Given the description of an element on the screen output the (x, y) to click on. 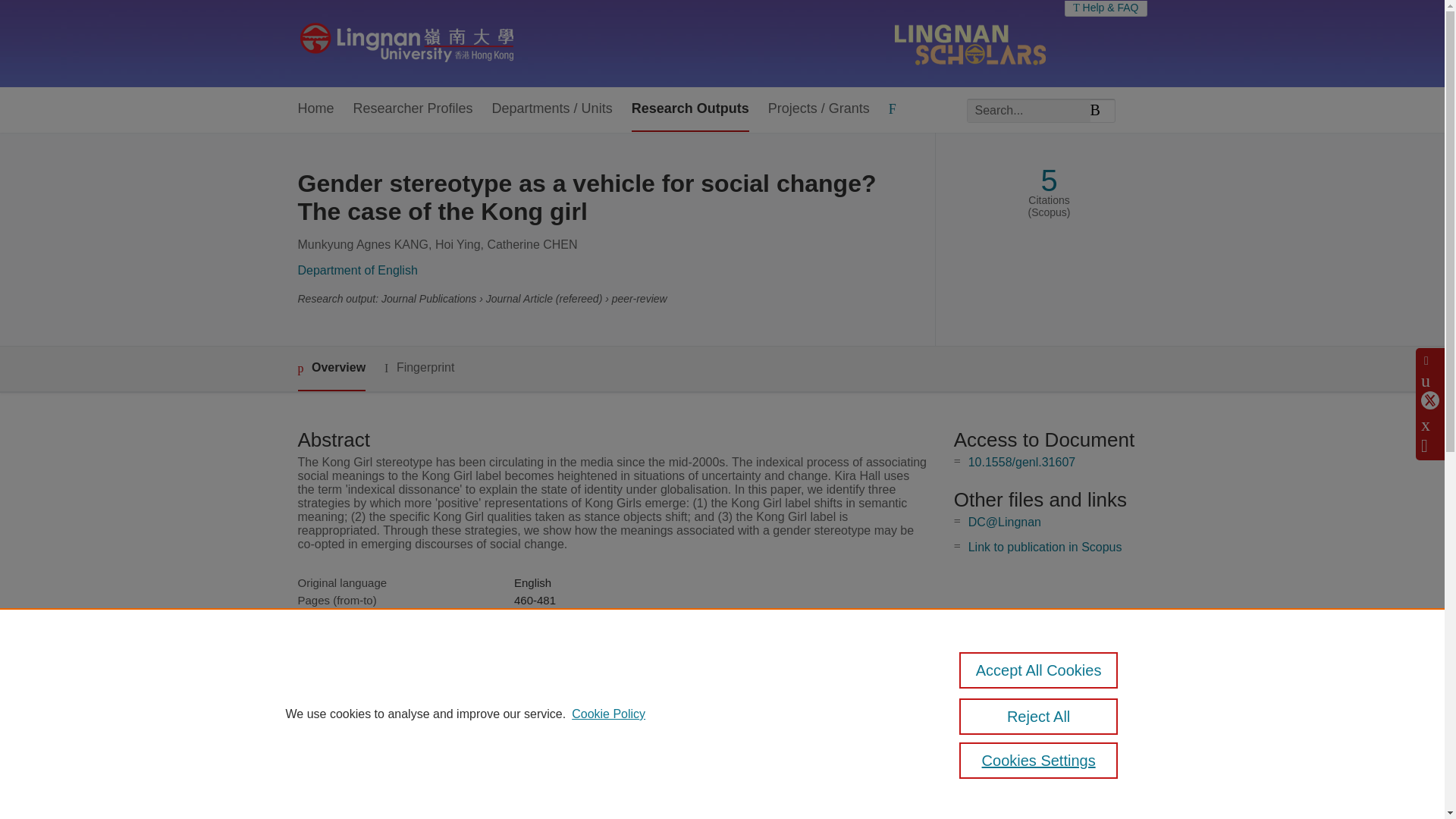
Researcher Profiles (413, 108)
Gender and Language (570, 634)
Link to publication in Scopus (1045, 546)
Department of English (356, 269)
Lingnan Scholars Home (406, 43)
Research Outputs (690, 108)
Fingerprint (419, 367)
Overview (331, 368)
